Given the description of an element on the screen output the (x, y) to click on. 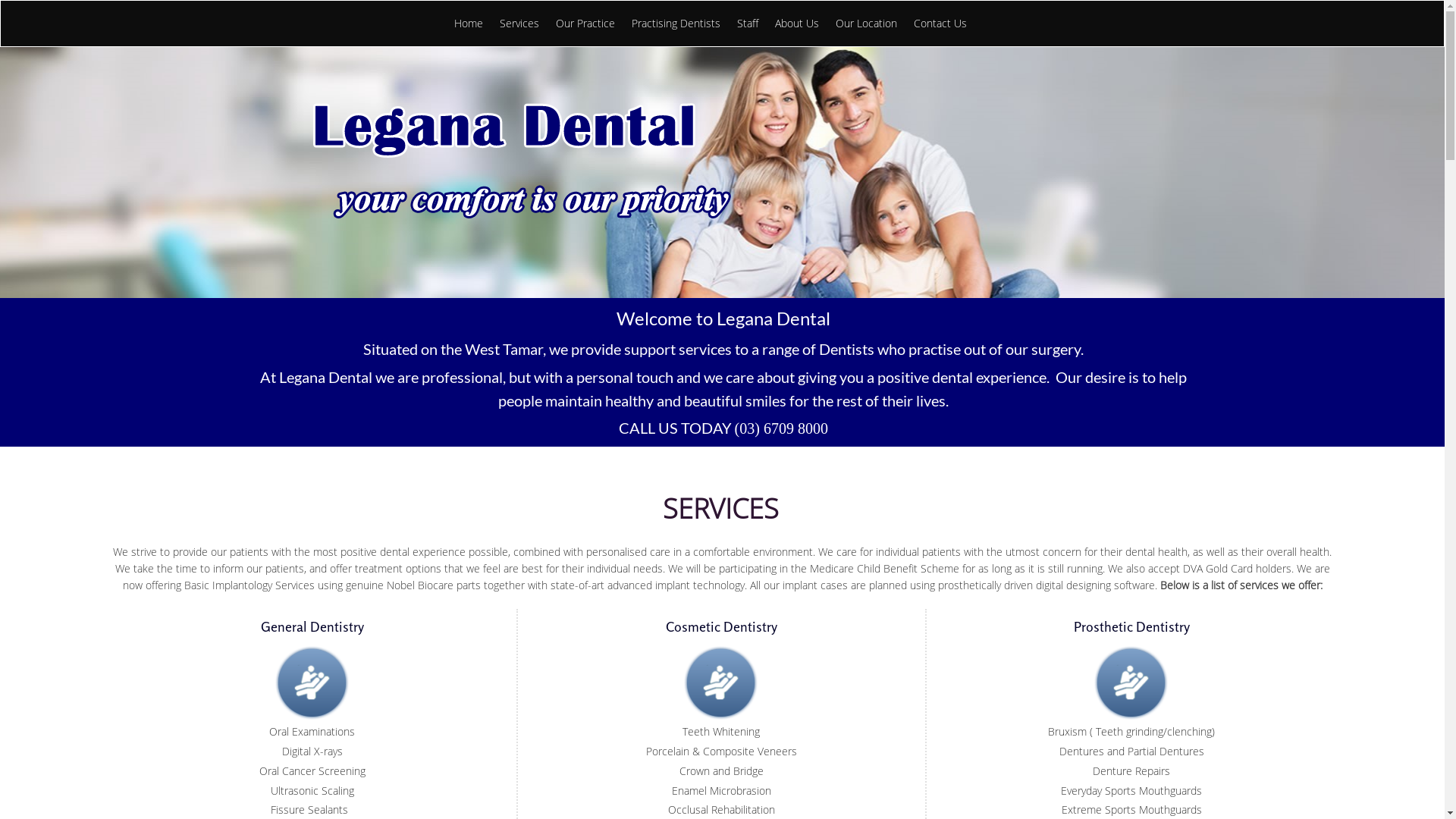
(03) 6709 8000 Element type: text (781, 430)
Services Element type: text (514, 23)
Staff Element type: text (743, 23)
About Us Element type: text (793, 23)
Our Practice Element type: text (580, 23)
Our Location Element type: text (862, 23)
Contact Us Element type: text (935, 23)
Practising Dentists Element type: text (671, 23)
Home Element type: text (463, 23)
